Given the description of an element on the screen output the (x, y) to click on. 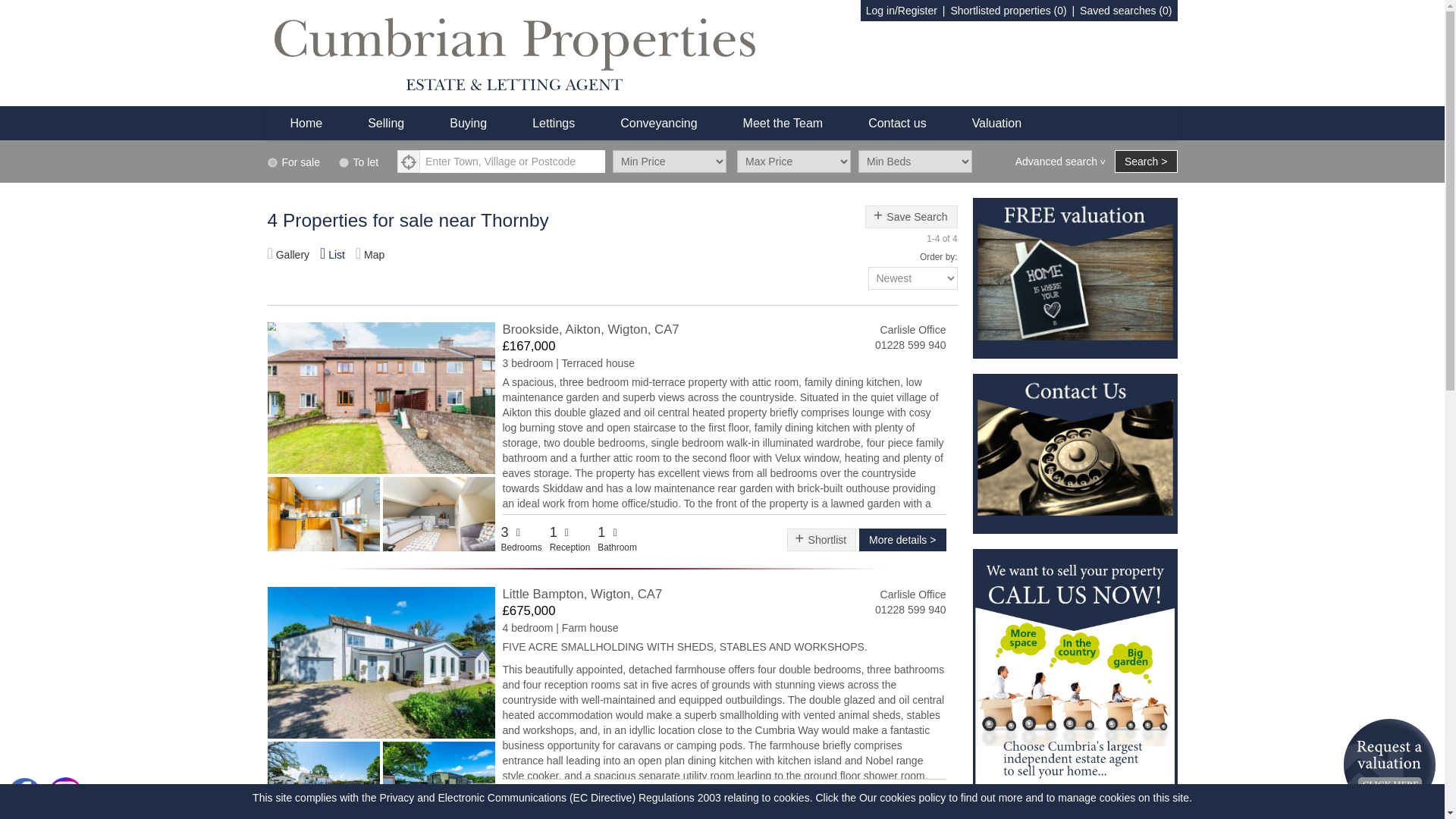
Home (305, 123)
Gallery (287, 254)
Selling (1074, 708)
01228 599 940 (909, 345)
Contact Us (1074, 452)
Search (1146, 160)
List (332, 254)
Free Valuation (1074, 276)
Shortlist (822, 539)
sales (271, 162)
Search Near Me (408, 160)
Valuation (997, 123)
Buying (467, 123)
More details (901, 539)
Advanced search (1056, 160)
